Given the description of an element on the screen output the (x, y) to click on. 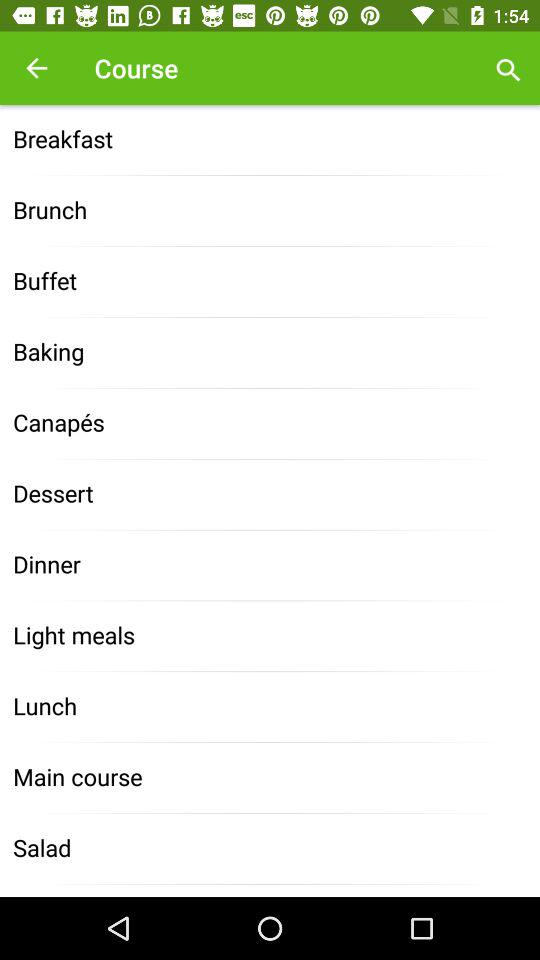
select salad item (270, 848)
